Given the description of an element on the screen output the (x, y) to click on. 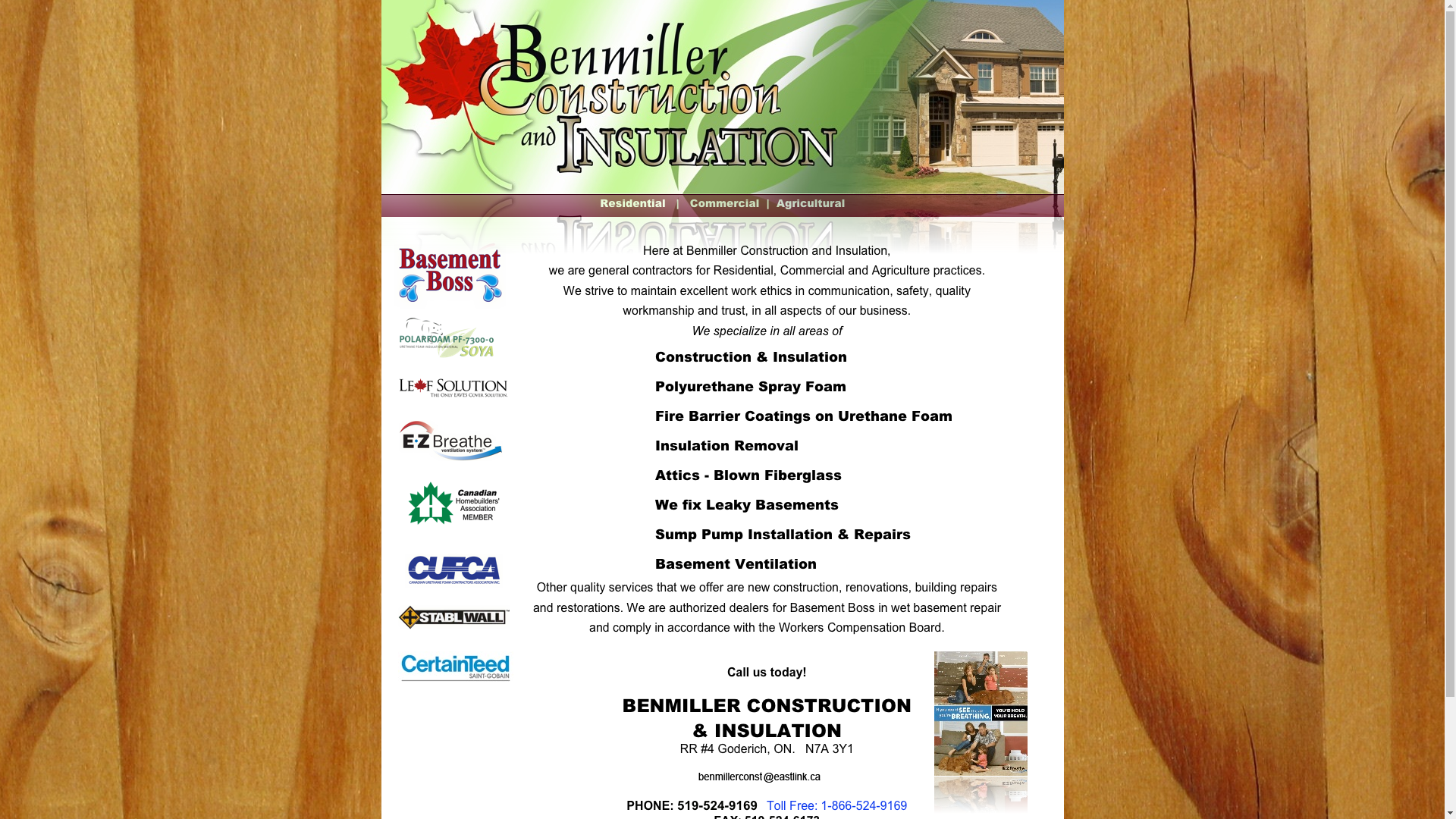
http://www.cufca.ca Element type: hover (453, 583)
http://www.polyurethanefoamsystems.com Element type: hover (446, 356)
http://www.certainteed.com Element type: hover (454, 680)
http://www.saba.on.ca/ Element type: hover (453, 521)
http://basementboss.com Element type: hover (449, 304)
http://ezbreathe.com/ Element type: hover (450, 456)
http://www.benmillerconstruction.ca Element type: hover (726, 189)
http://www.leafsolution.ca Element type: hover (453, 393)
http://www.stablwall.com/ Element type: hover (452, 624)
Welcome_files/EZBreatheGuide.swf Element type: hover (980, 771)
